Given the description of an element on the screen output the (x, y) to click on. 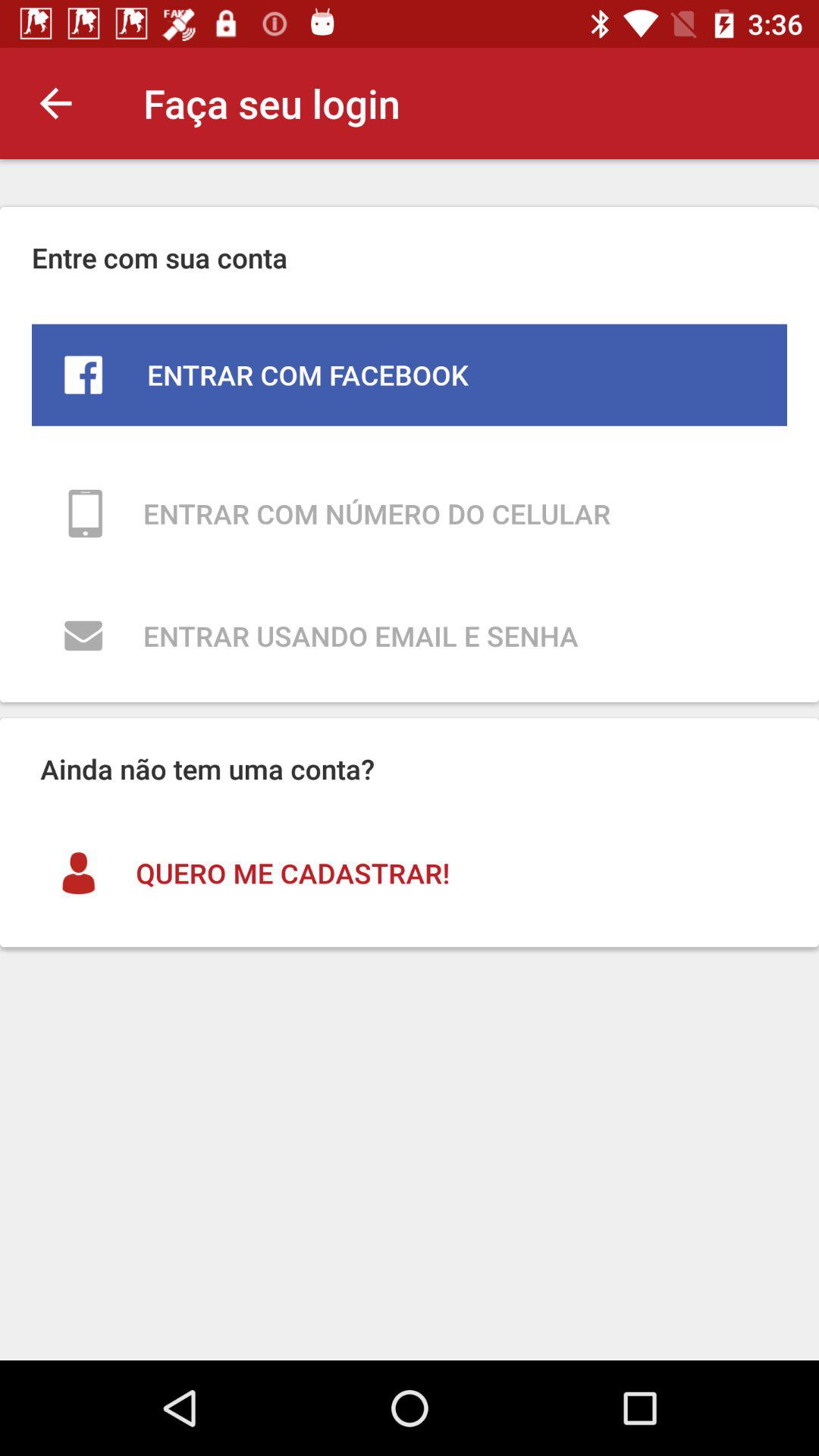
turn off the entrar usando email icon (409, 635)
